Given the description of an element on the screen output the (x, y) to click on. 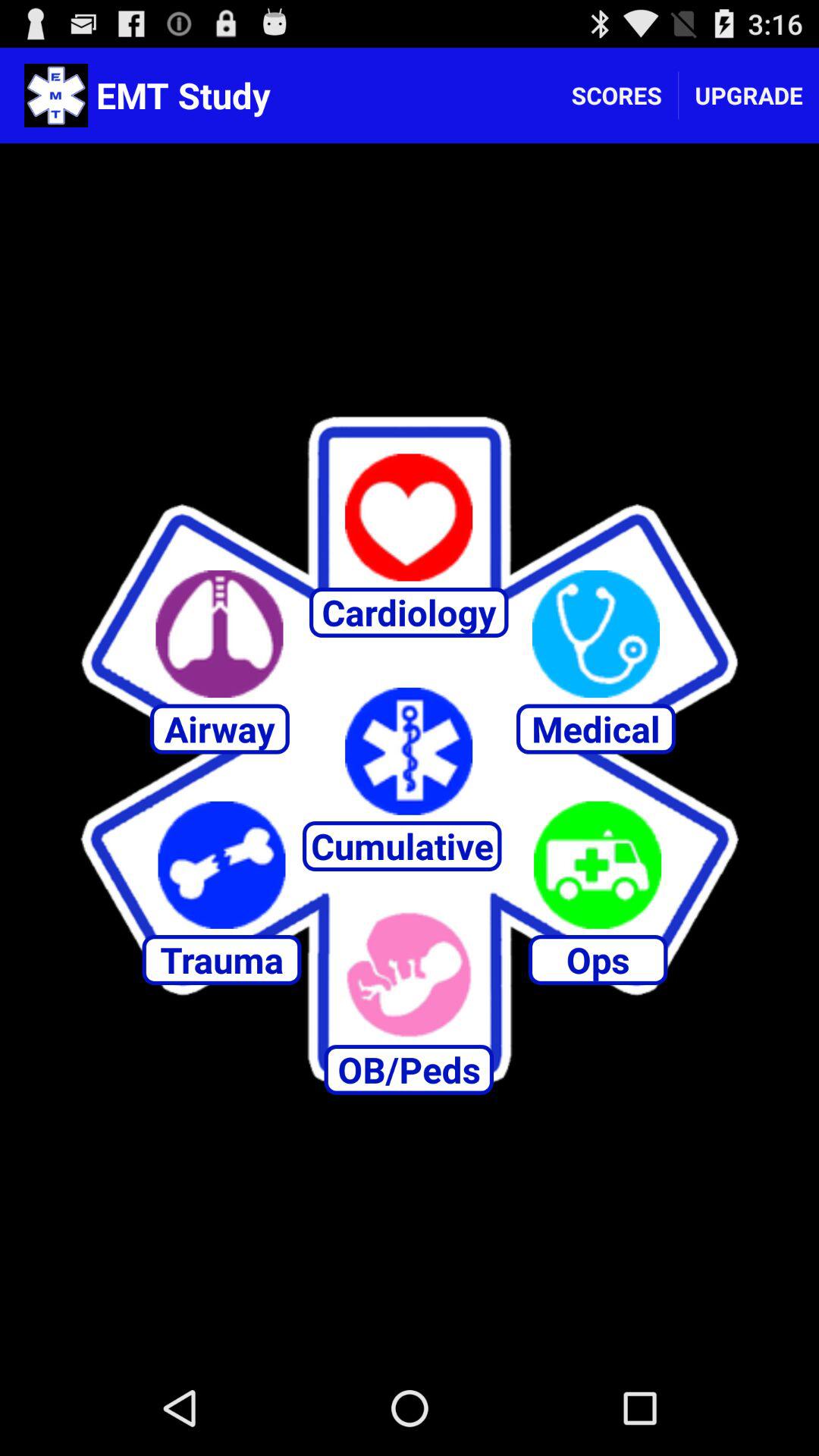
lung icon (219, 633)
